Given the description of an element on the screen output the (x, y) to click on. 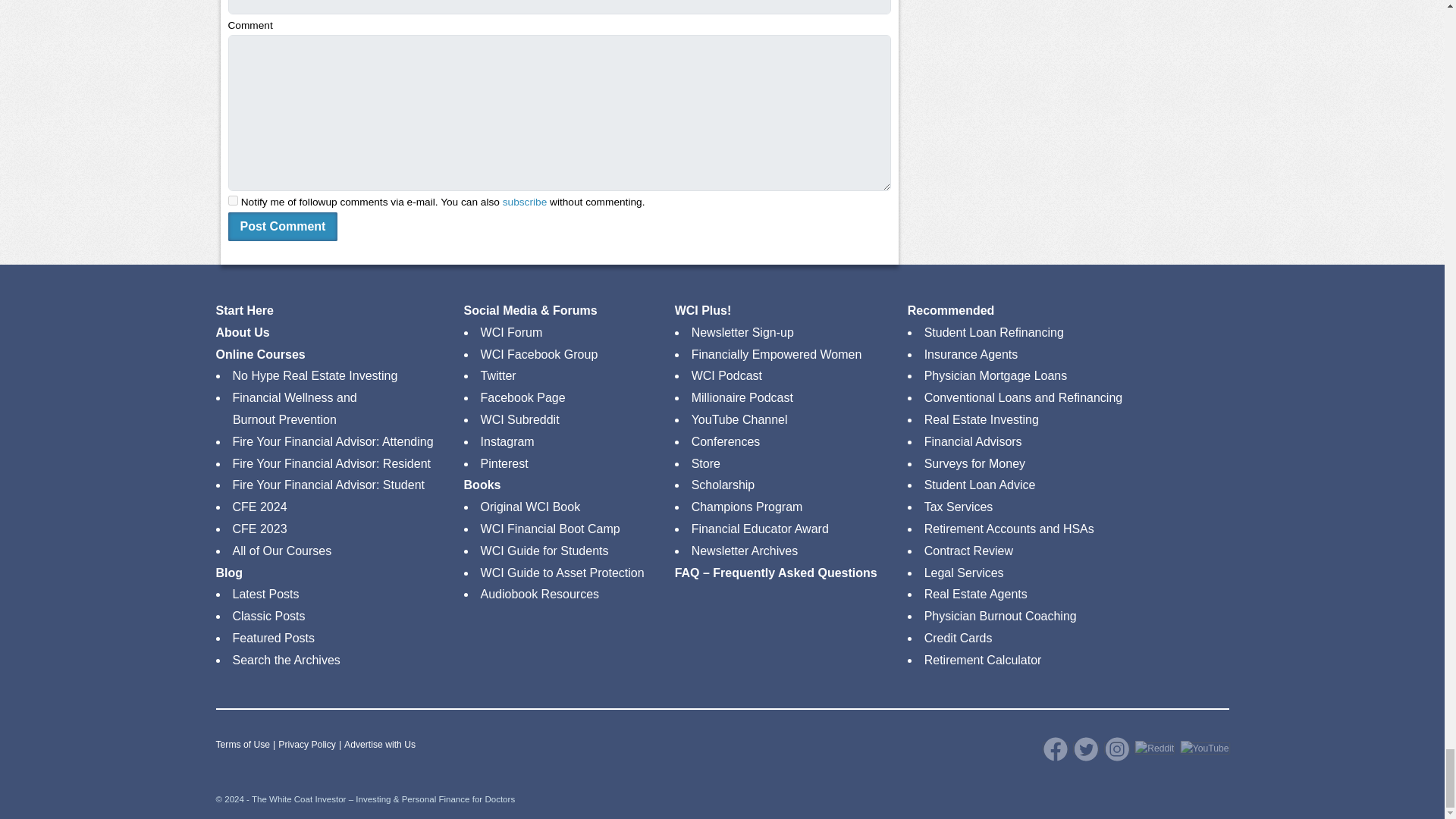
replies (232, 200)
Post Comment (282, 226)
